Given the description of an element on the screen output the (x, y) to click on. 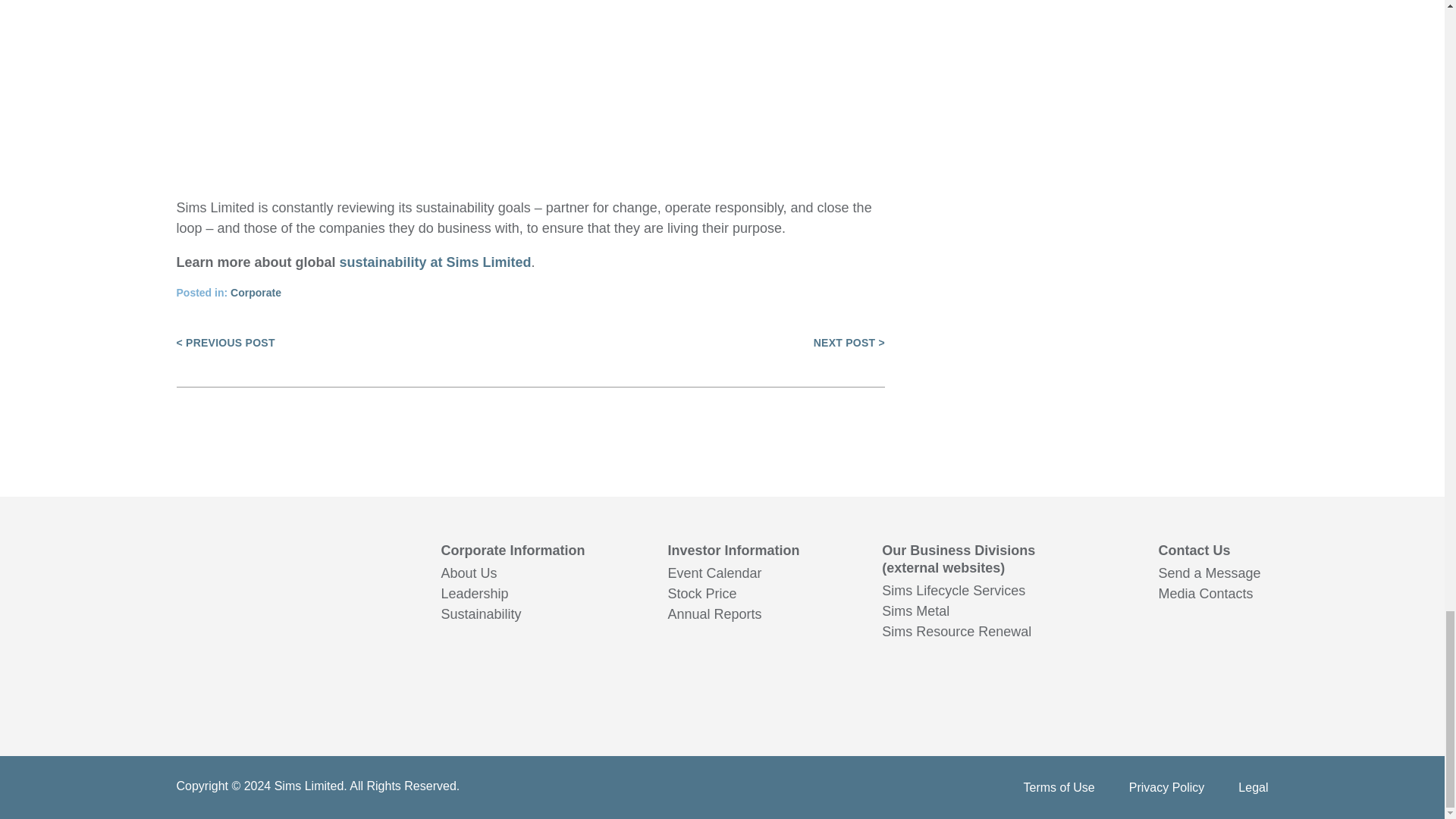
Sims Limited - Terra Carta Seal - CEO Vignette (529, 69)
